Given the description of an element on the screen output the (x, y) to click on. 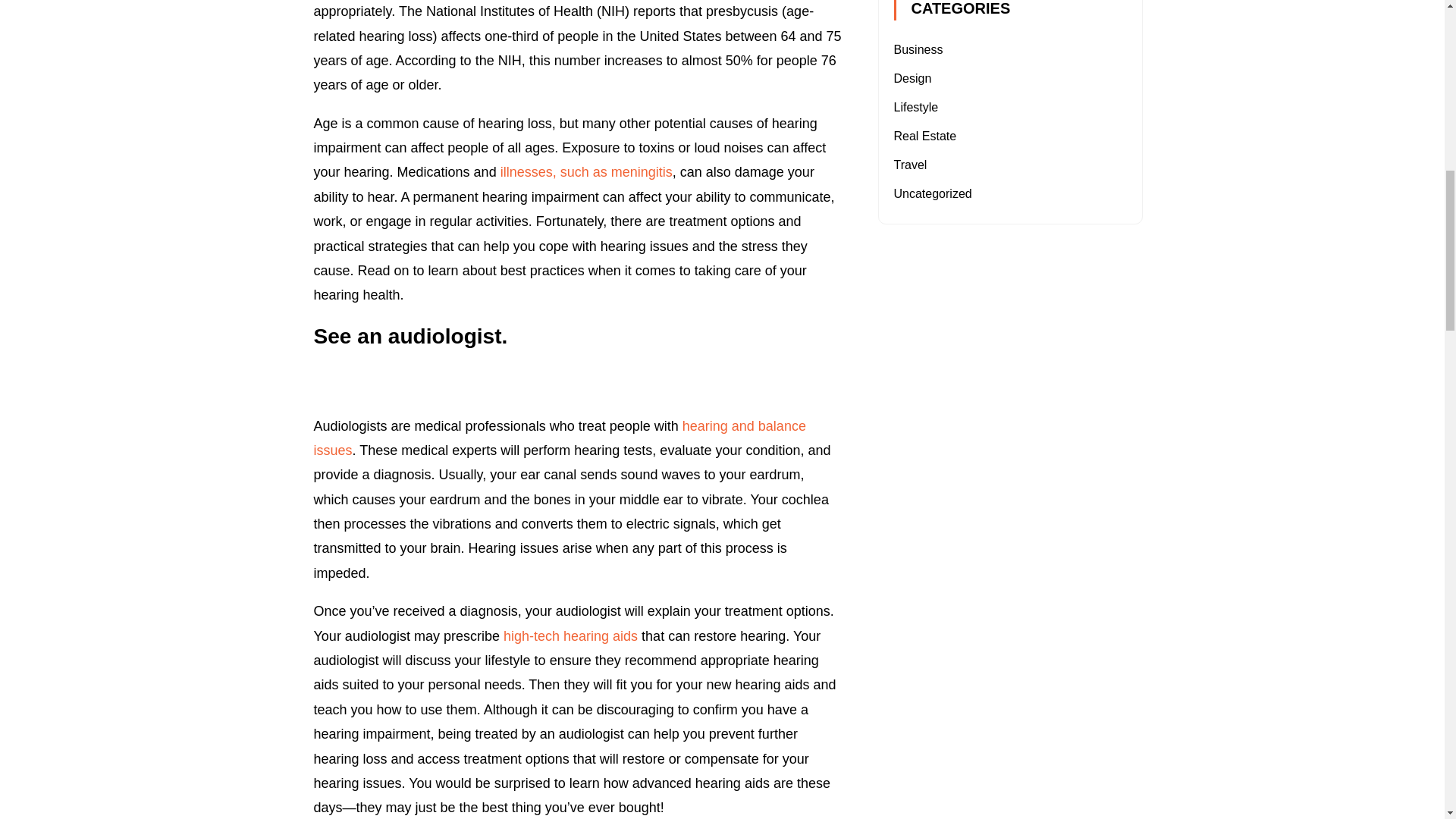
hearing and balance issues (560, 437)
Business (917, 49)
Real Estate (924, 135)
Design (912, 78)
high-tech hearing aids (570, 635)
illnesses, such as meningitis (586, 171)
Travel (909, 164)
Uncategorized (932, 193)
Lifestyle (915, 106)
